Given the description of an element on the screen output the (x, y) to click on. 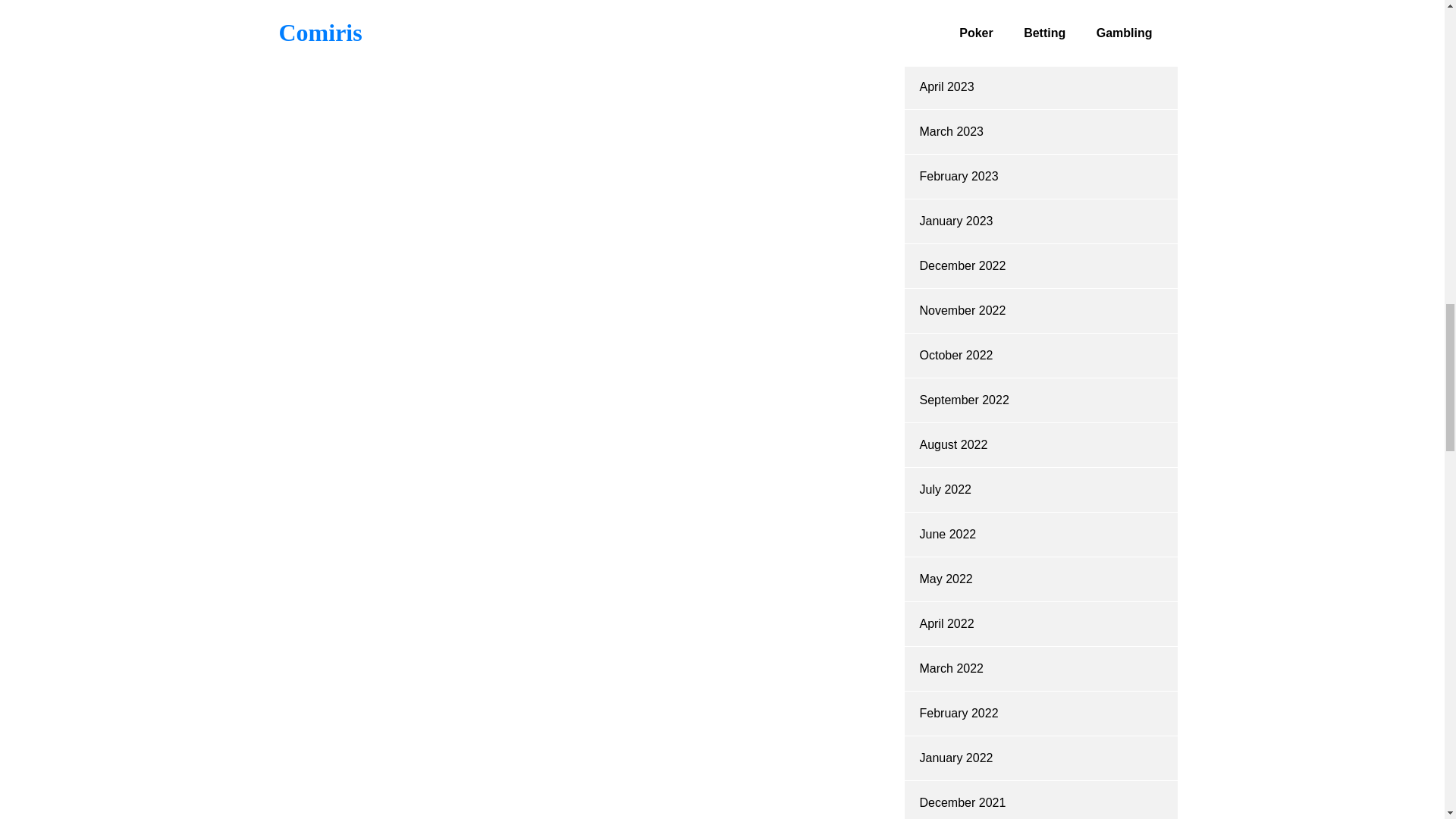
May 2023 (945, 42)
October 2022 (955, 354)
June 2023 (946, 2)
January 2023 (955, 220)
August 2022 (952, 444)
November 2022 (962, 309)
September 2022 (963, 399)
February 2023 (957, 175)
March 2023 (951, 131)
April 2023 (946, 86)
December 2022 (962, 265)
